Given the description of an element on the screen output the (x, y) to click on. 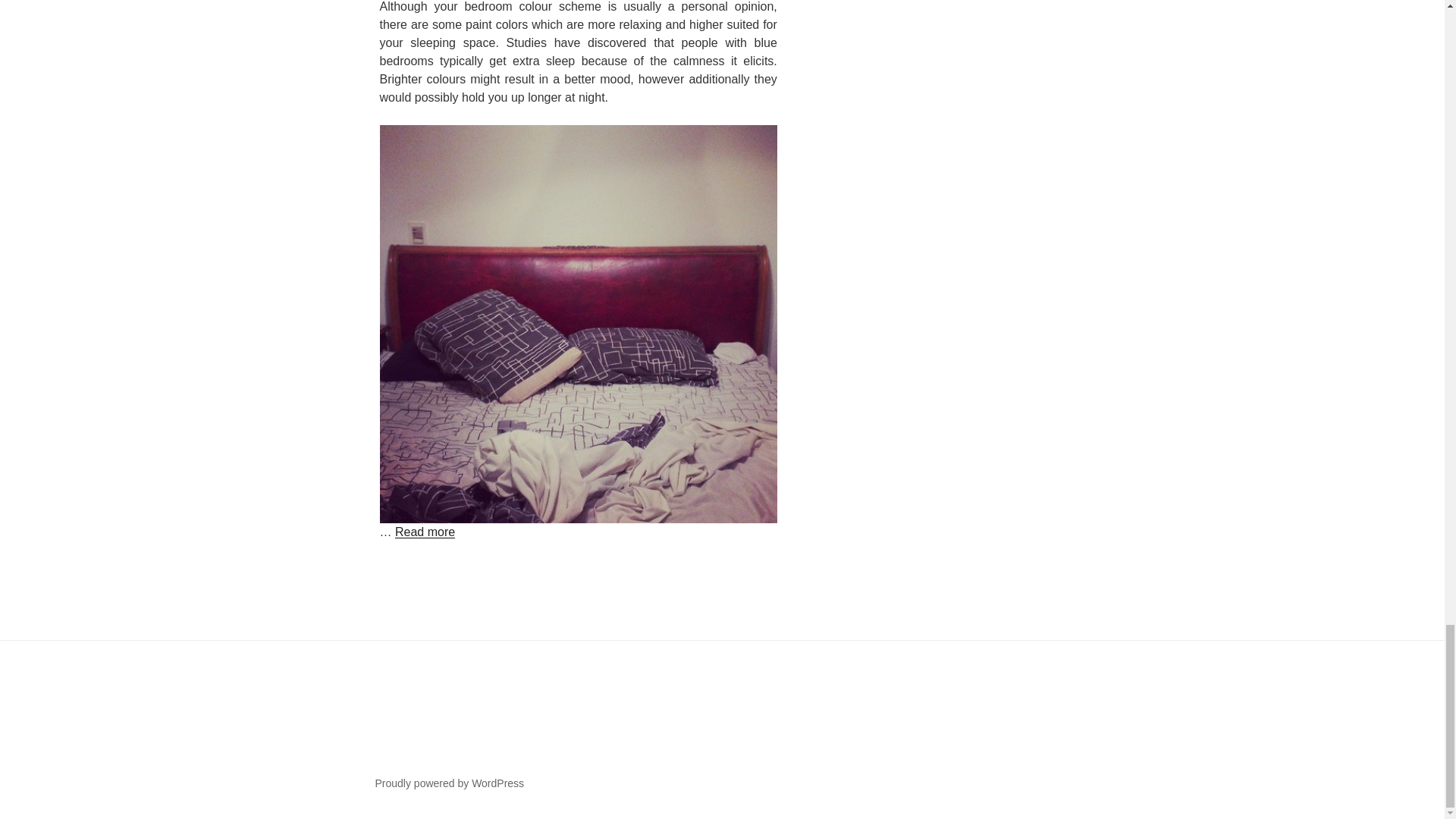
Read more (424, 531)
